Given the description of an element on the screen output the (x, y) to click on. 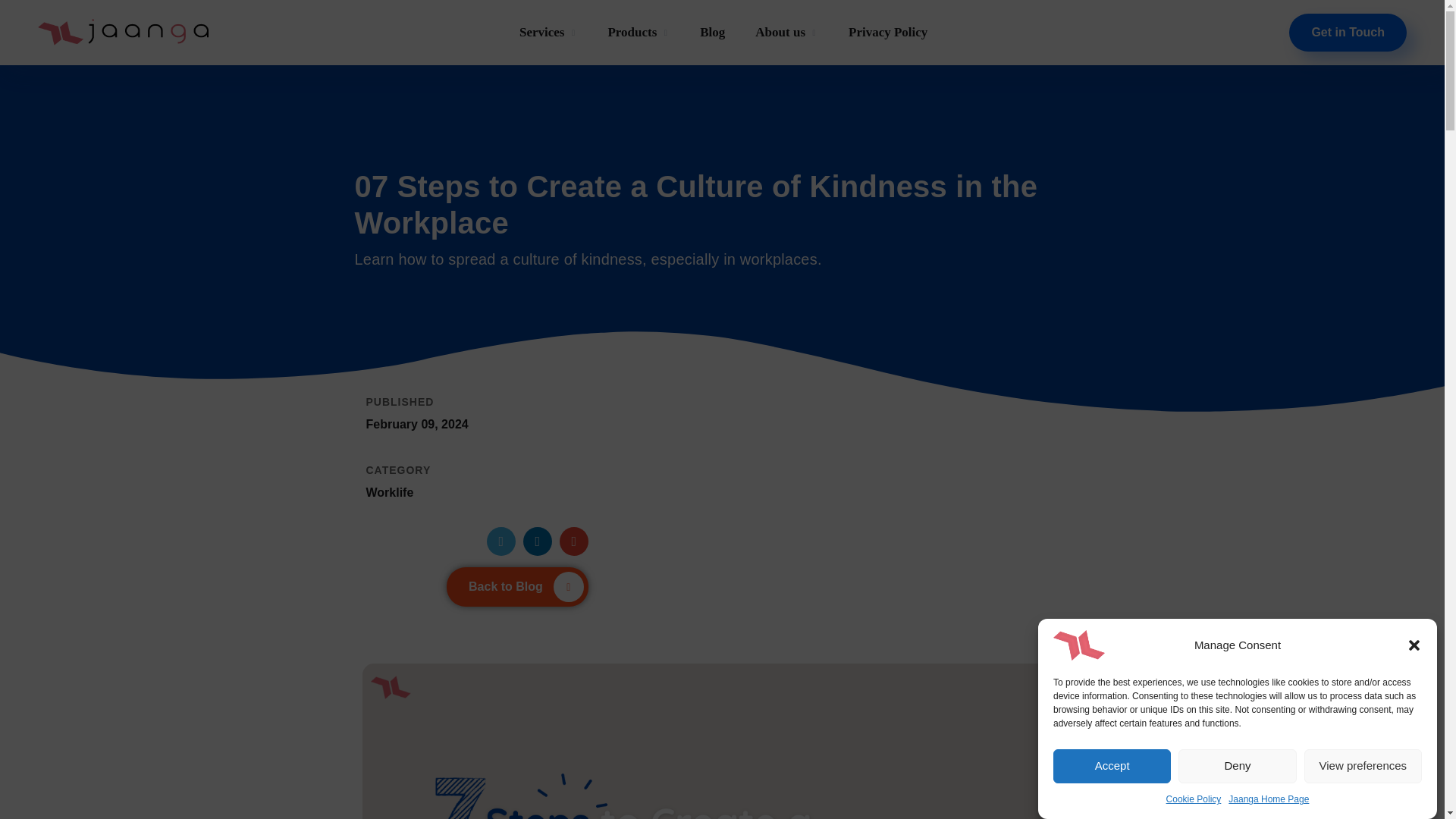
Get in Touch (1347, 32)
Privacy Policy (887, 32)
Products (638, 32)
Services (547, 32)
About us (786, 32)
